Given the description of an element on the screen output the (x, y) to click on. 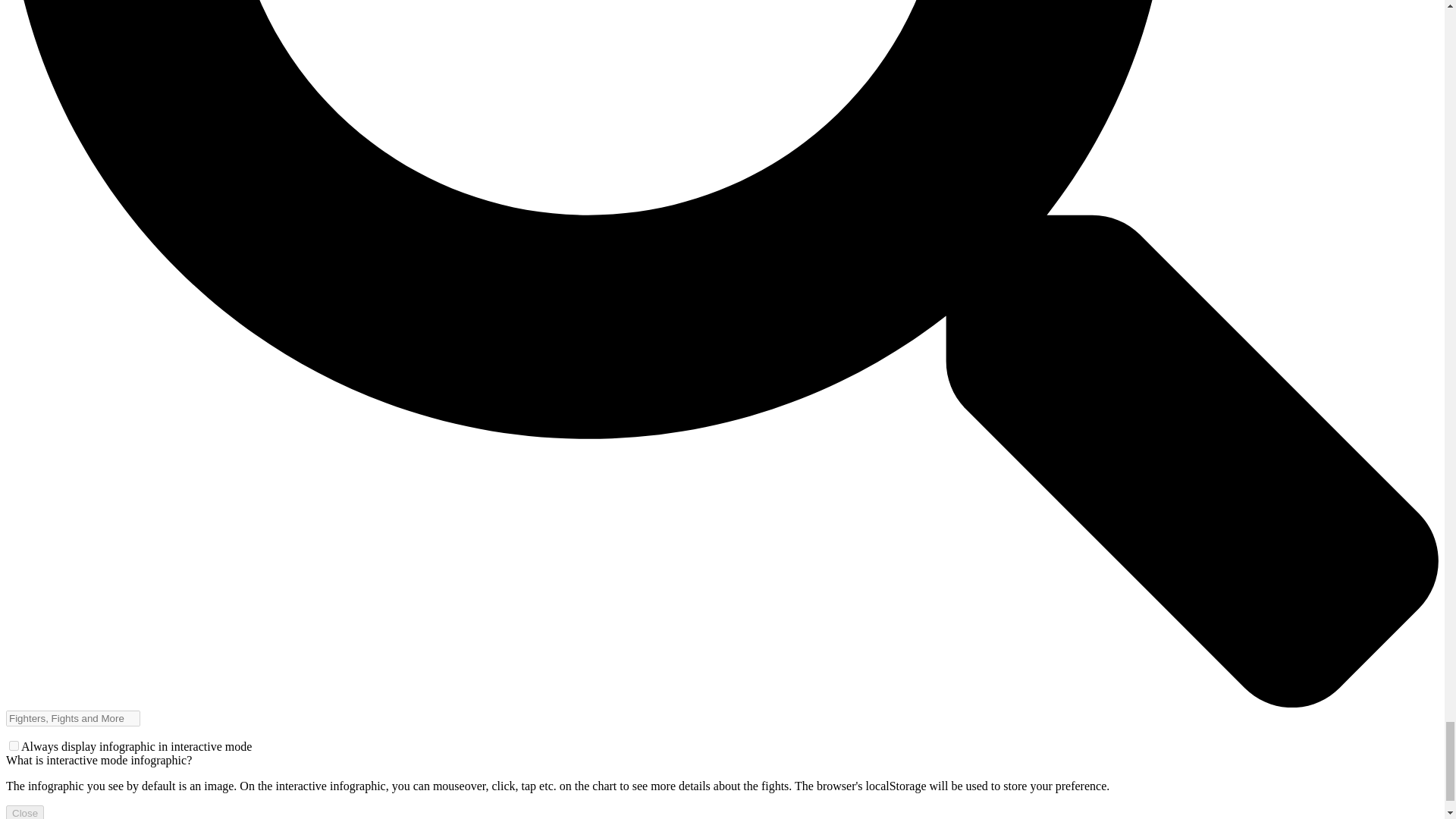
on (13, 746)
Close (24, 812)
